Given the description of an element on the screen output the (x, y) to click on. 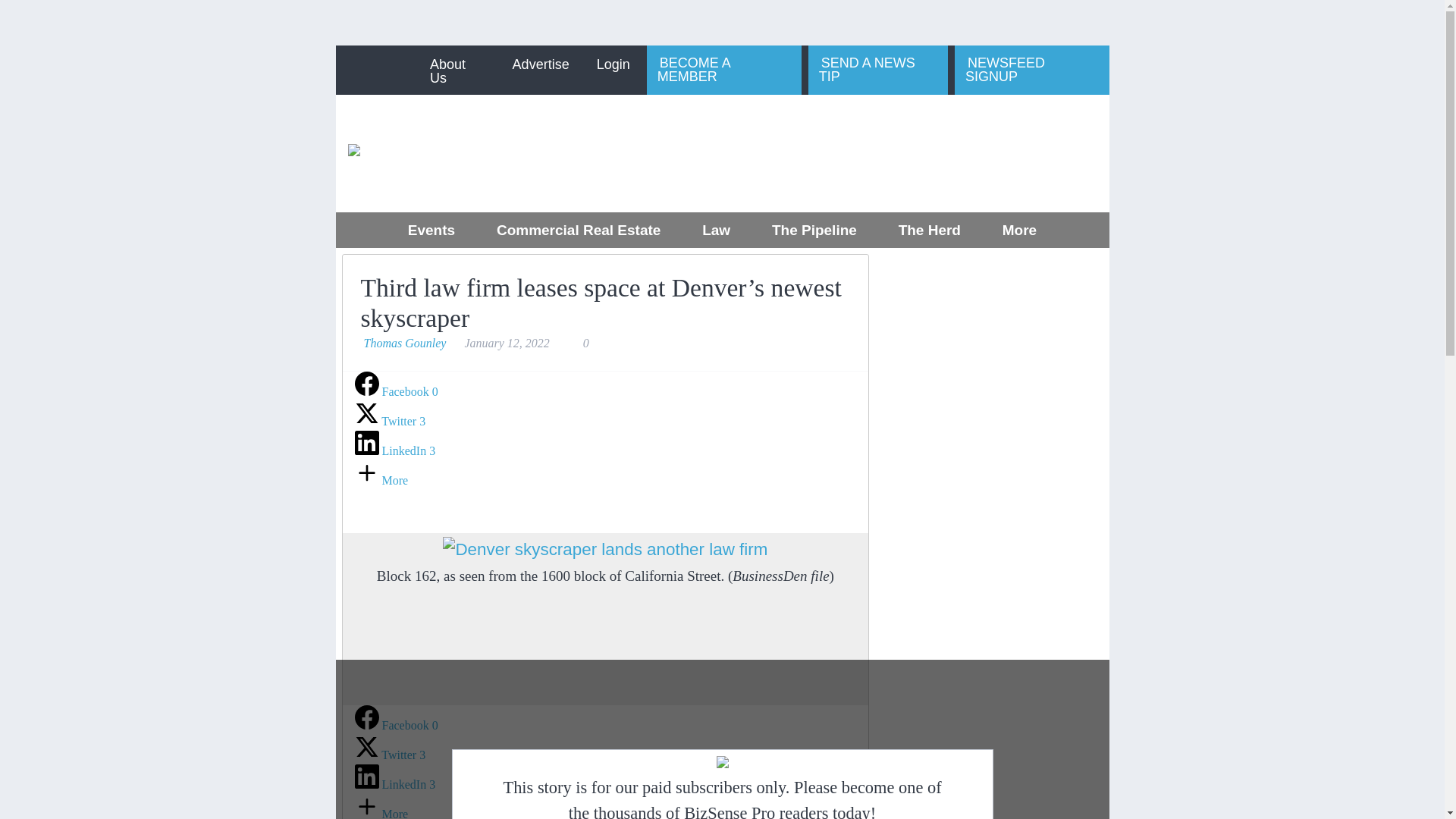
More (382, 480)
BECOME A MEMBER (724, 69)
Thomas Gounley (405, 342)
Law (716, 230)
About Us (458, 70)
The Pipeline (814, 230)
Events (431, 230)
Login (613, 63)
Advertise (540, 63)
More (1019, 230)
